Given the description of an element on the screen output the (x, y) to click on. 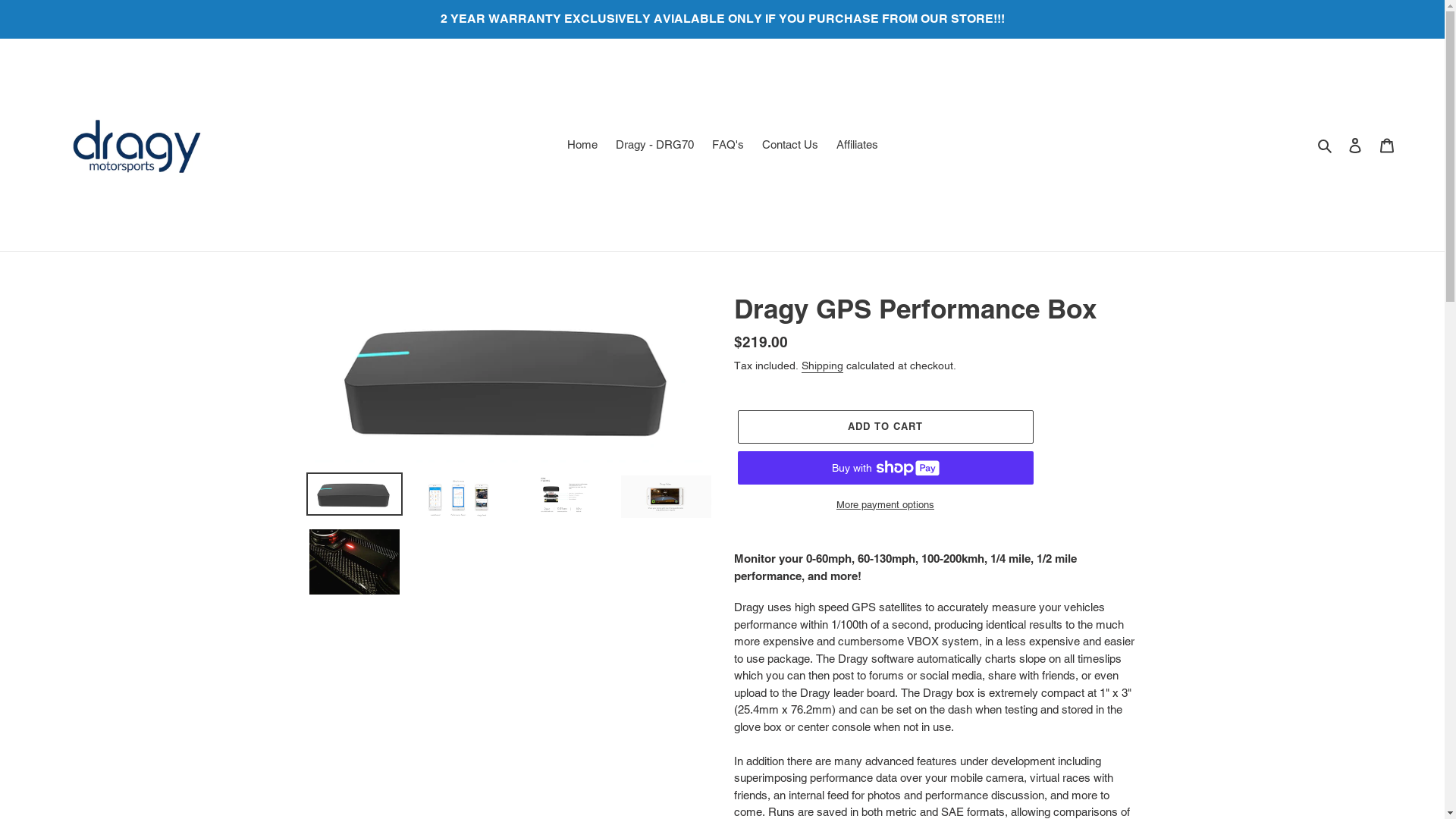
Home Element type: text (582, 145)
Affiliates Element type: text (856, 145)
FAQ's Element type: text (726, 145)
More payment options Element type: text (884, 504)
Log in Element type: text (1355, 144)
Cart Element type: text (1386, 144)
Shipping Element type: text (821, 366)
ADD TO CART Element type: text (884, 426)
Search Element type: text (1325, 144)
Dragy - DRG70 Element type: text (654, 145)
Contact Us Element type: text (789, 145)
